Given the description of an element on the screen output the (x, y) to click on. 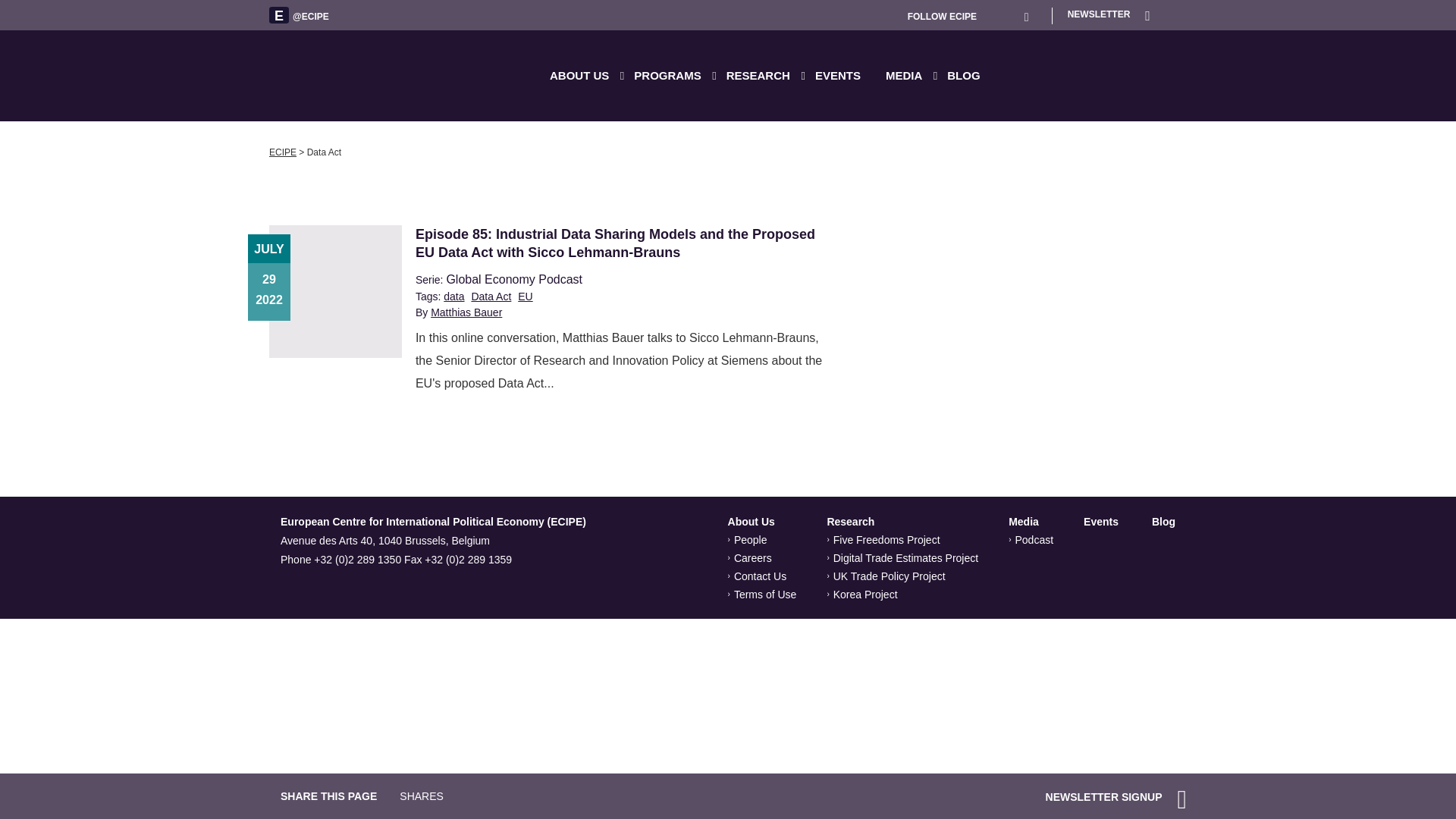
PROGRAMS (674, 75)
NEWSLETTER (1108, 13)
Go to ECIPE. (283, 152)
